Given the description of an element on the screen output the (x, y) to click on. 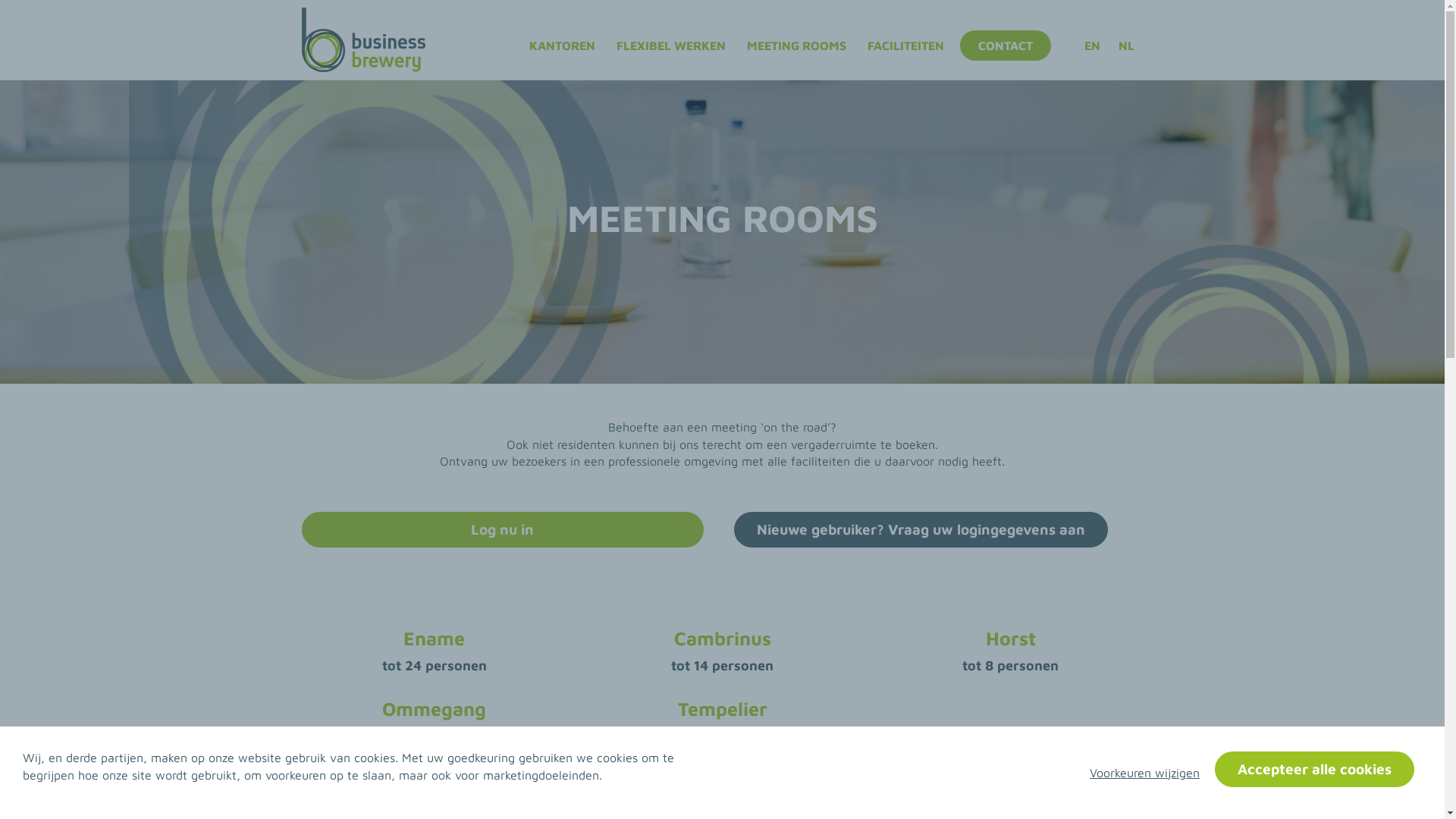
CONTACT Element type: text (1005, 45)
EN Element type: text (1091, 45)
KANTOREN Element type: text (561, 45)
FLEXIBEL WERKEN Element type: text (671, 45)
NL Element type: text (1126, 45)
MEETING ROOMS Element type: text (796, 45)
FACILITEITEN Element type: text (904, 45)
Log nu in Element type: text (502, 529)
Nieuwe gebruiker? Vraag uw logingegevens aan Element type: text (920, 529)
